Given the description of an element on the screen output the (x, y) to click on. 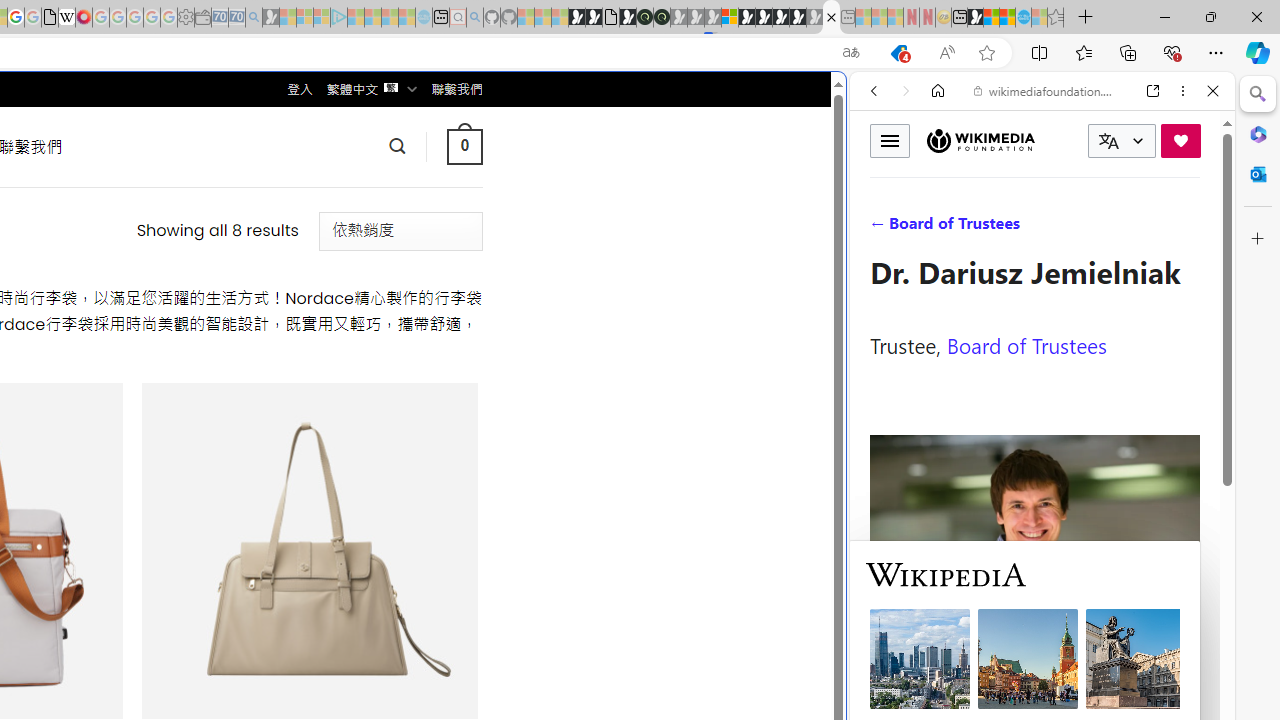
Future Focus Report 2024 (661, 17)
Donate now (1180, 140)
Wikimedia Foundation (980, 141)
Earth has six continents not seven, radical new study claims (1007, 17)
Wiktionary (1034, 669)
